Given the description of an element on the screen output the (x, y) to click on. 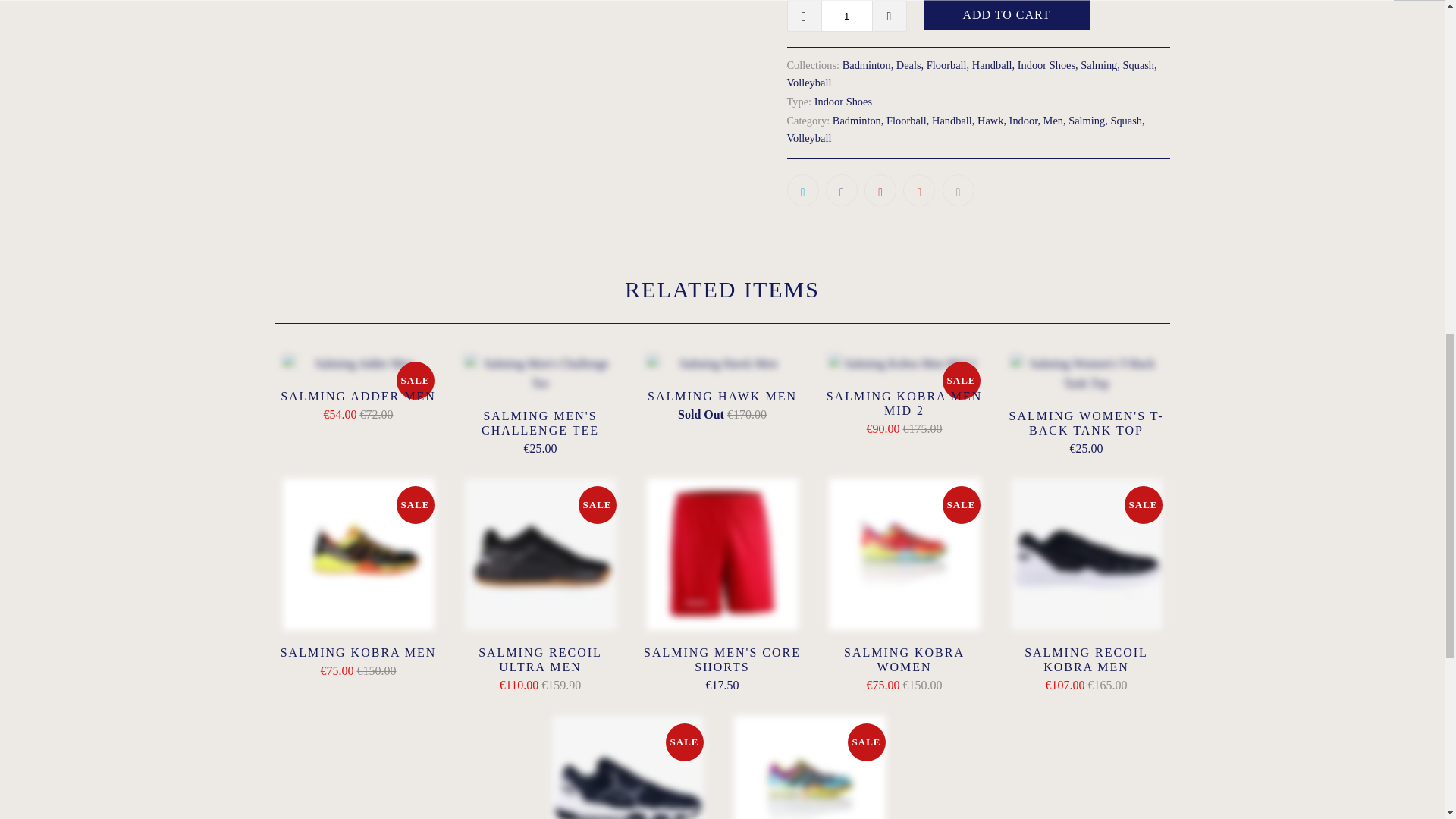
Floorball (946, 64)
Products tagged Badminton (856, 120)
Squash (1138, 64)
Indoor Shoes (1046, 64)
Salming (1098, 64)
Products tagged Floorball (906, 120)
1 (846, 15)
Handball (991, 64)
Volleyball (809, 82)
Indoor Shoes (842, 101)
Deals (908, 64)
Badminton (867, 64)
